Given the description of an element on the screen output the (x, y) to click on. 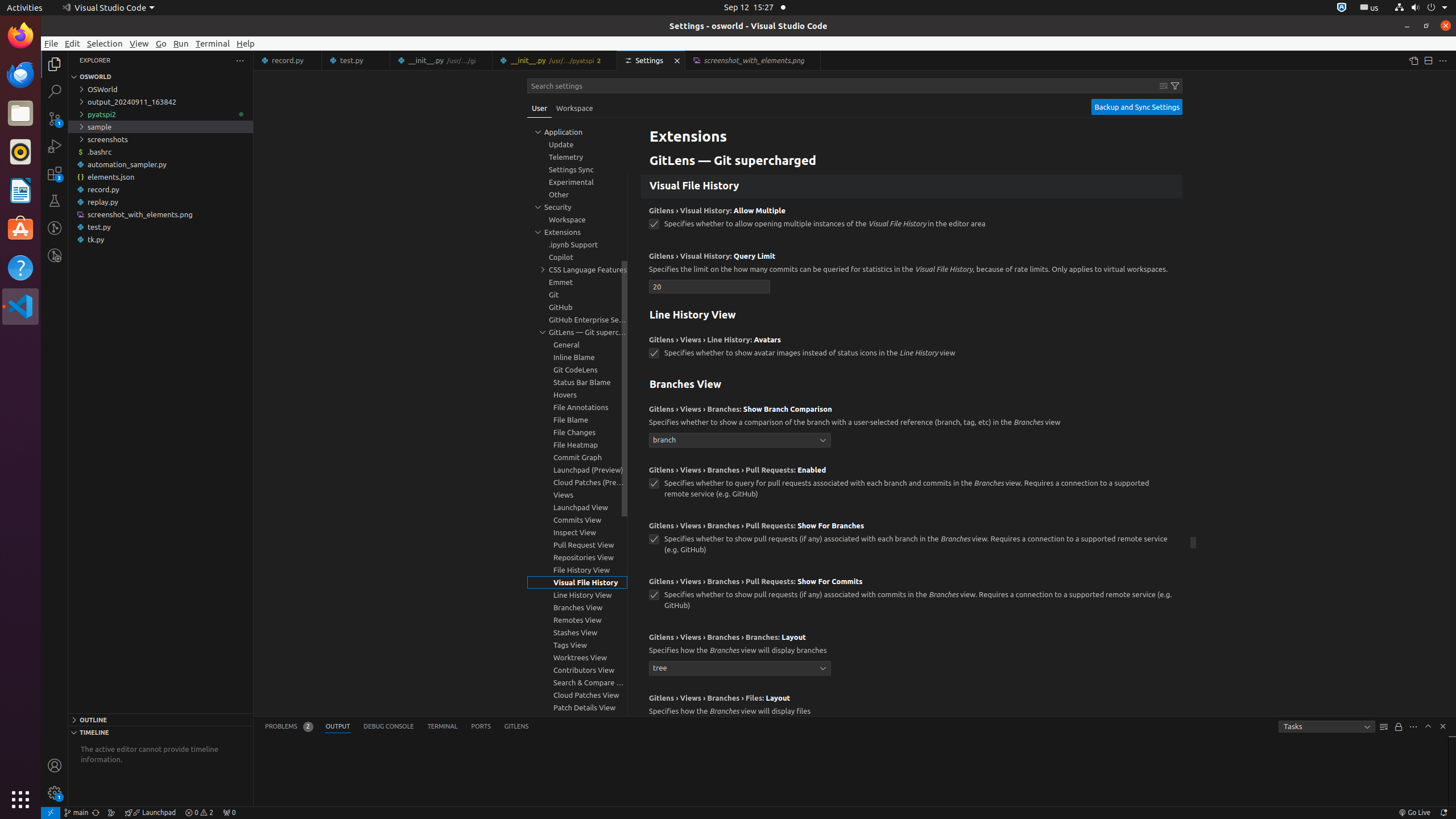
Close (Ctrl+W) Element type: push-button (812, 60)
Testing Element type: page-tab (54, 200)
General, group Element type: tree-item (577, 344)
branch Element type: menu-item (739, 439)
File Changes, group Element type: tree-item (577, 431)
